Given the description of an element on the screen output the (x, y) to click on. 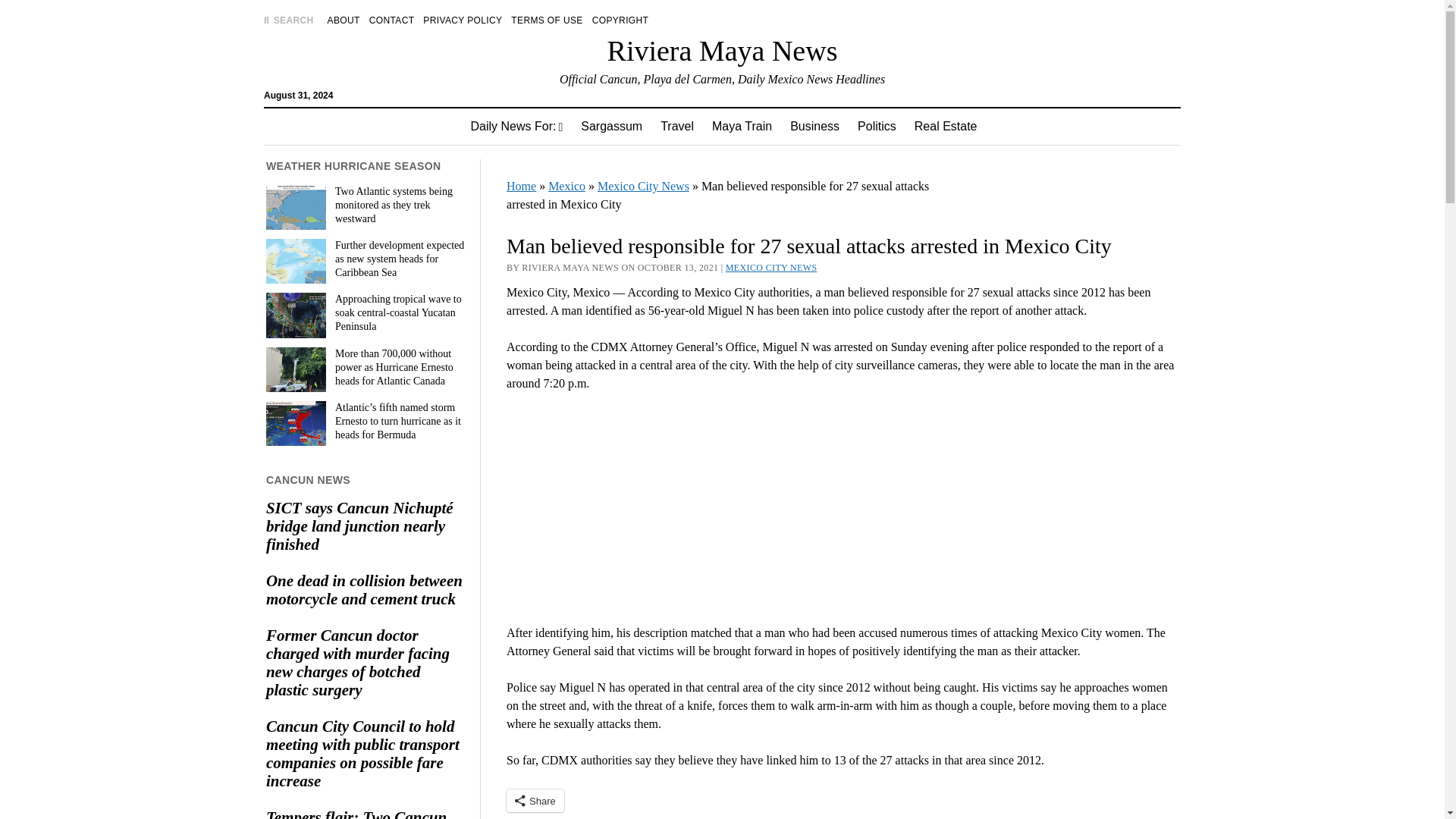
Sargassum (611, 126)
Daily News For: (516, 126)
Maya Train (741, 126)
PRIVACY POLICY (462, 20)
TERMS OF USE (546, 20)
COPYRIGHT (620, 20)
Travel (676, 126)
SEARCH (288, 20)
Business (814, 126)
CONTACT (391, 20)
